Given the description of an element on the screen output the (x, y) to click on. 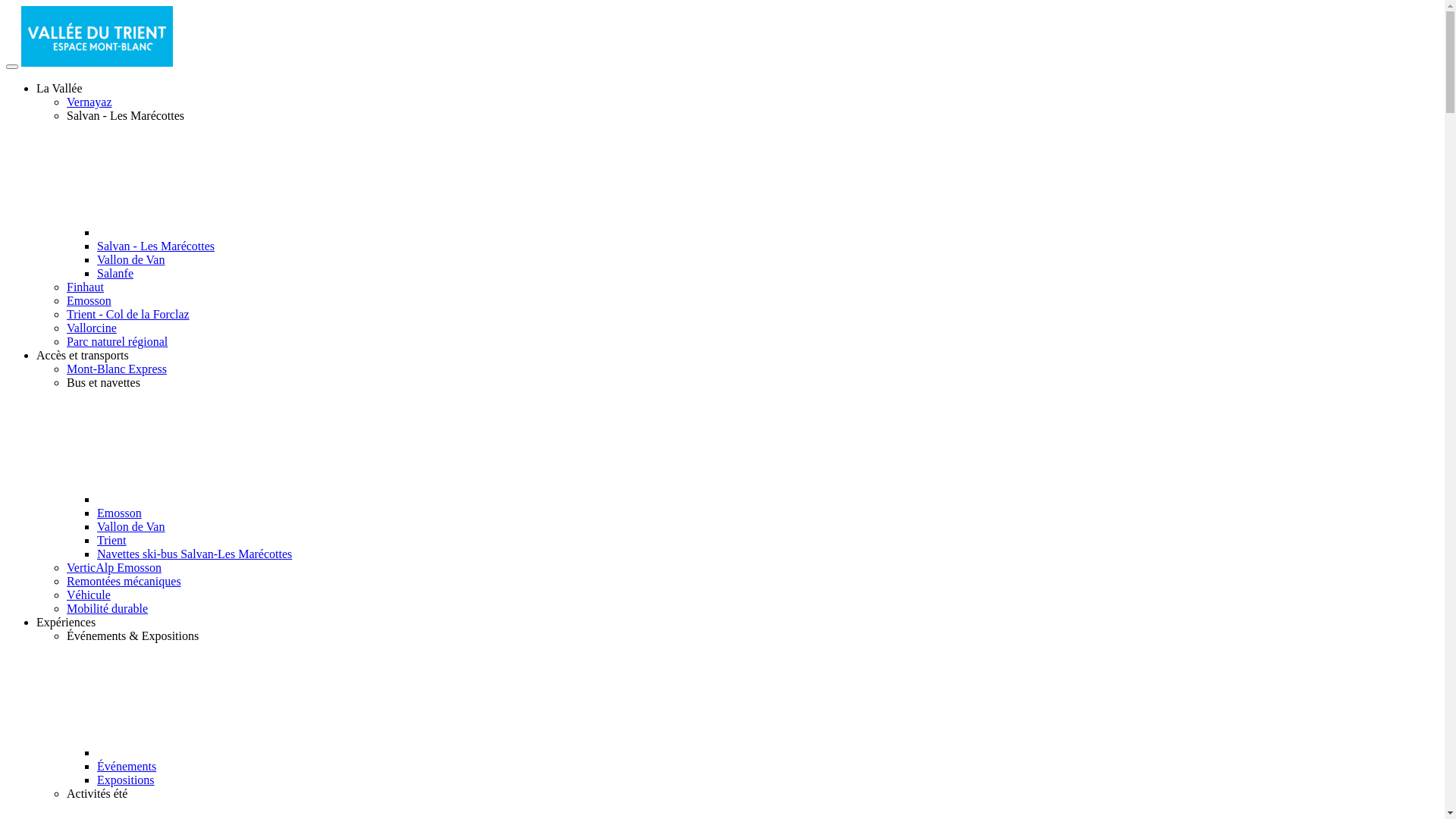
Expositions Element type: text (125, 779)
Vallorcine Element type: text (91, 327)
Finhaut Element type: text (84, 286)
Vallon de Van Element type: text (130, 259)
Trient - Col de la Forclaz Element type: text (127, 313)
Vernayaz Element type: text (89, 101)
Vallon de Van Element type: text (130, 526)
Trient Element type: text (111, 539)
Emosson Element type: text (119, 512)
Mont-Blanc Express Element type: text (116, 368)
VerticAlp Emosson Element type: text (113, 567)
Salanfe Element type: text (115, 272)
Emosson Element type: text (88, 300)
